Given the description of an element on the screen output the (x, y) to click on. 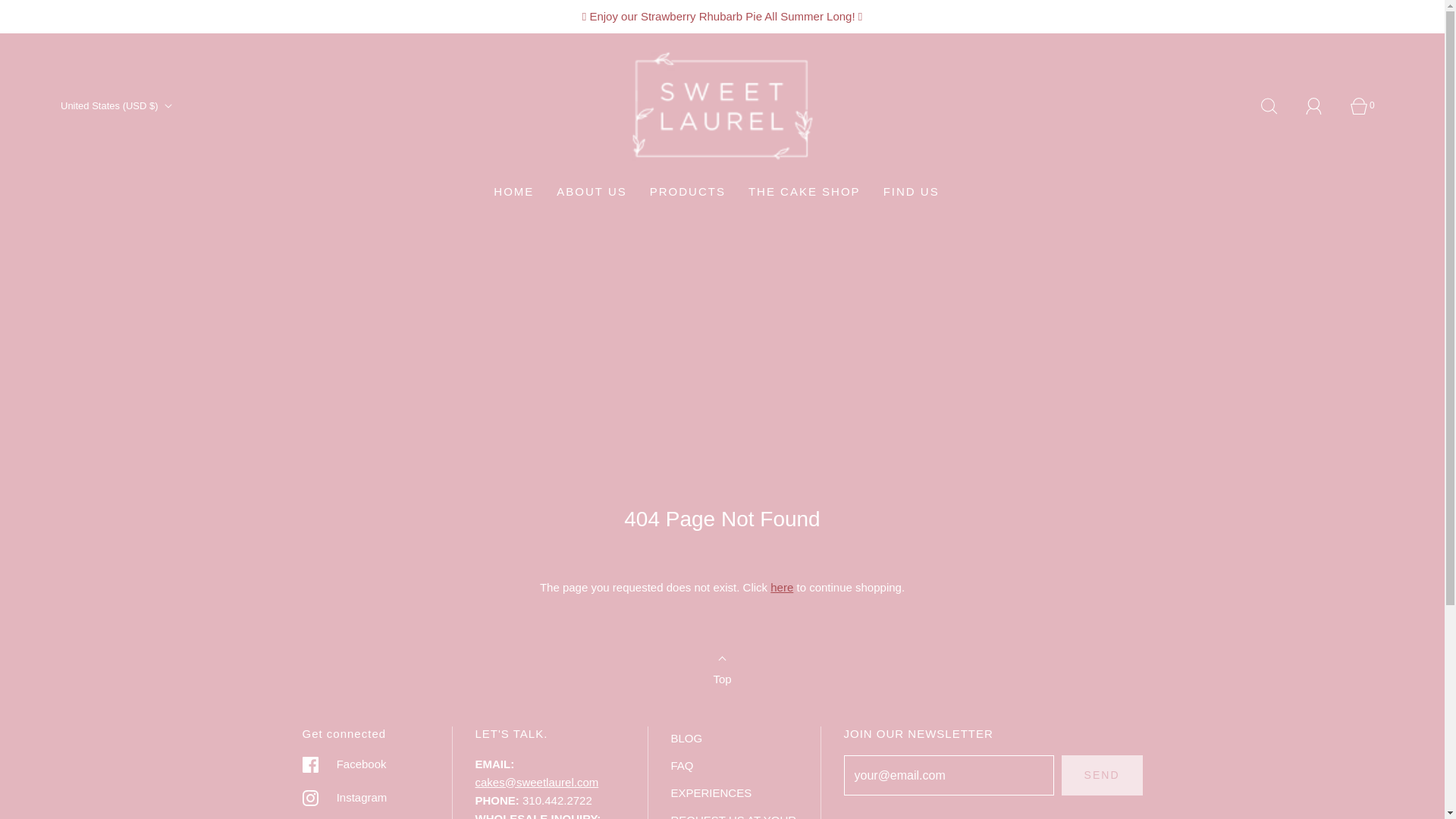
ABOUT US (591, 191)
HOME (513, 191)
Cart (1367, 105)
Search (1277, 105)
Log in (1322, 105)
Instagram icon (309, 797)
PRODUCTS (687, 191)
Facebook icon (309, 764)
0 (1367, 105)
